Given the description of an element on the screen output the (x, y) to click on. 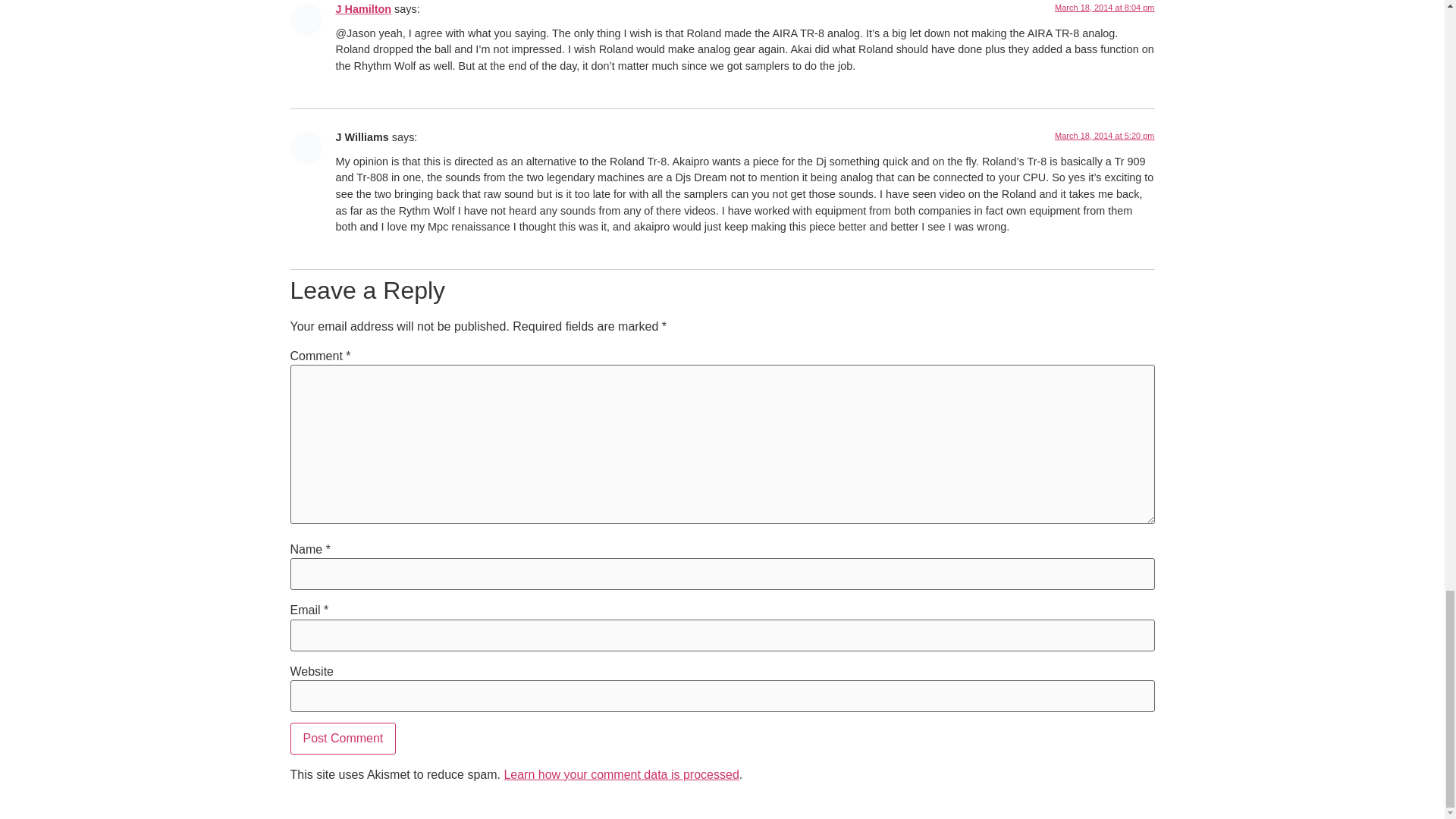
March 18, 2014 at 5:20 pm (1104, 135)
Learn how your comment data is processed (620, 774)
Post Comment (342, 738)
Post Comment (342, 738)
March 18, 2014 at 8:04 pm (1104, 7)
J Hamilton (362, 9)
